Given the description of an element on the screen output the (x, y) to click on. 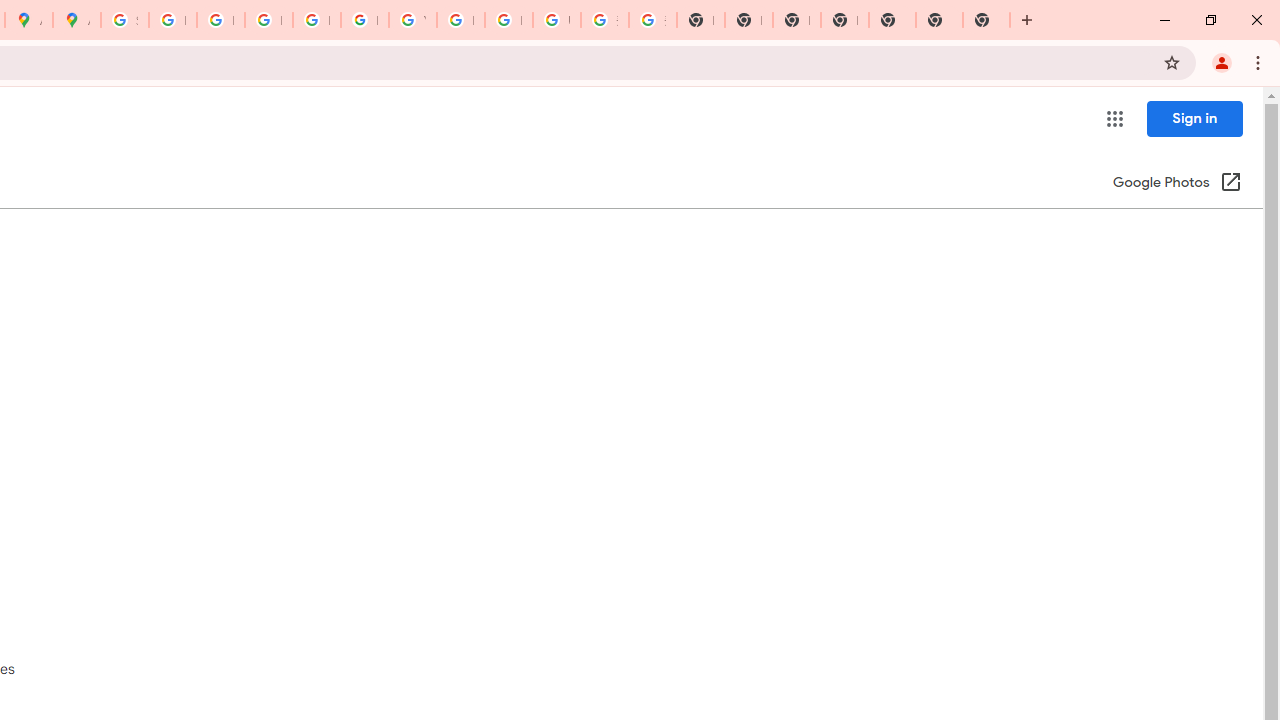
Sign in - Google Accounts (124, 20)
YouTube (412, 20)
Privacy Help Center - Policies Help (268, 20)
New Tab (939, 20)
Privacy Help Center - Policies Help (220, 20)
